Given the description of an element on the screen output the (x, y) to click on. 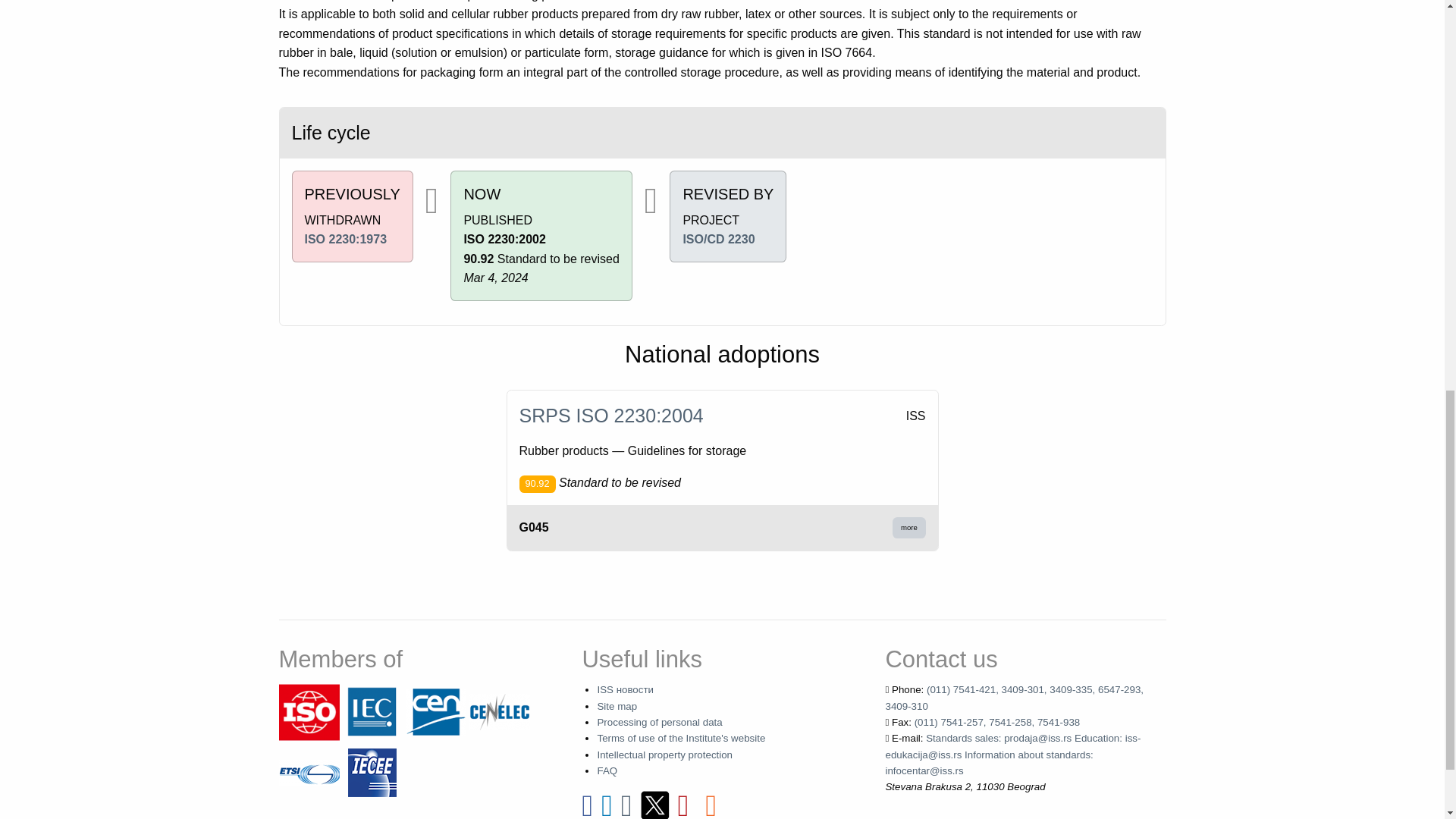
IEC (372, 711)
CENELEC (498, 711)
Standard to be revised (536, 484)
ETSI (309, 772)
CEN (435, 711)
IECEE (372, 772)
ISO (309, 711)
